Given the description of an element on the screen output the (x, y) to click on. 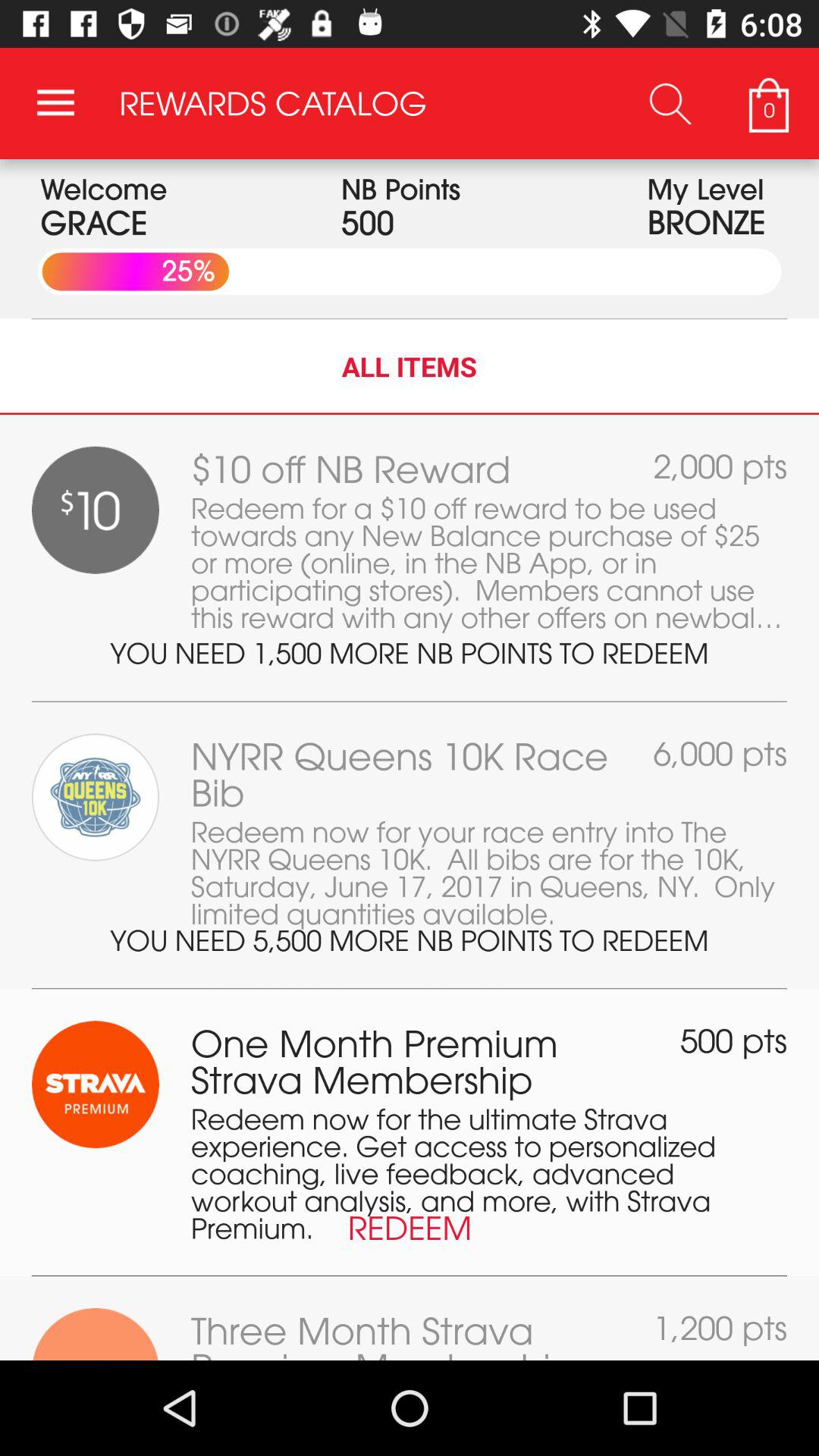
click the item next to 0 item (670, 103)
